Given the description of an element on the screen output the (x, y) to click on. 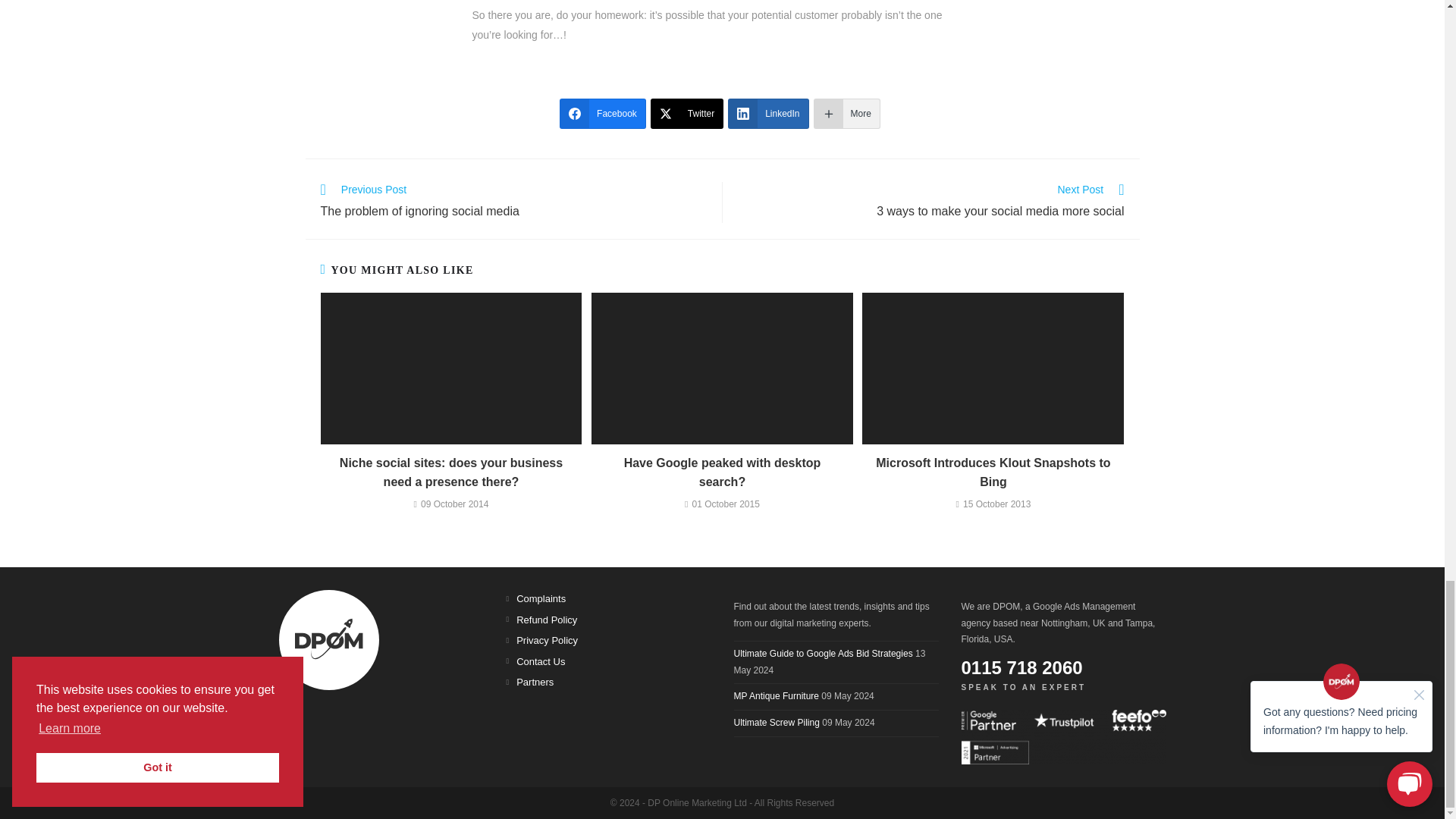
Microsoft Introduces Klout Snapshots to Bing (992, 472)
Have Google peaked with desktop search? (721, 472)
